Given the description of an element on the screen output the (x, y) to click on. 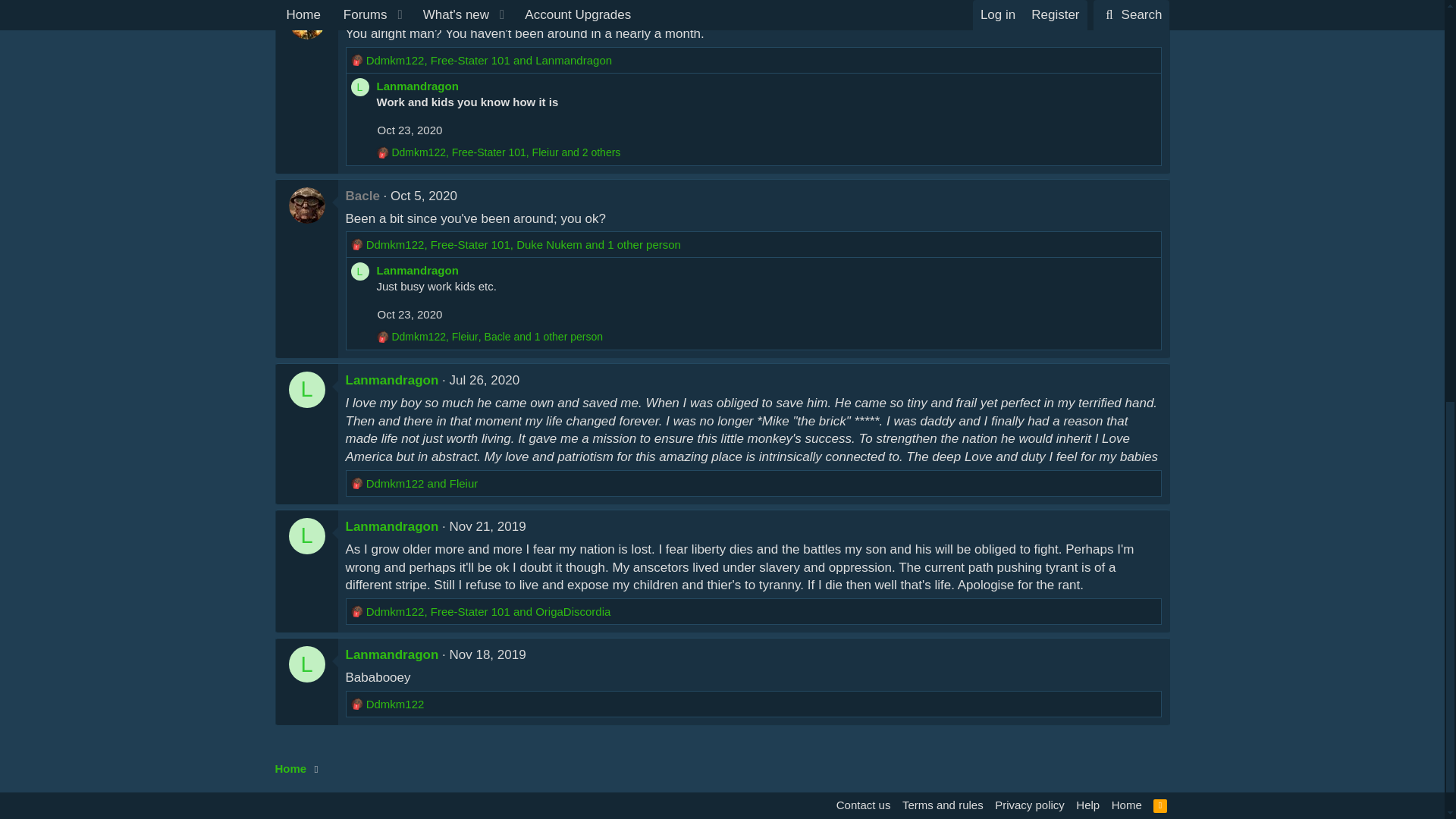
Like (381, 152)
Oct 17, 2020 at 5:27 PM (470, 11)
Oct 23, 2020 at 8:50 PM (409, 129)
Like (356, 60)
Oct 5, 2020 at 11:44 PM (423, 196)
Like (356, 244)
